Given the description of an element on the screen output the (x, y) to click on. 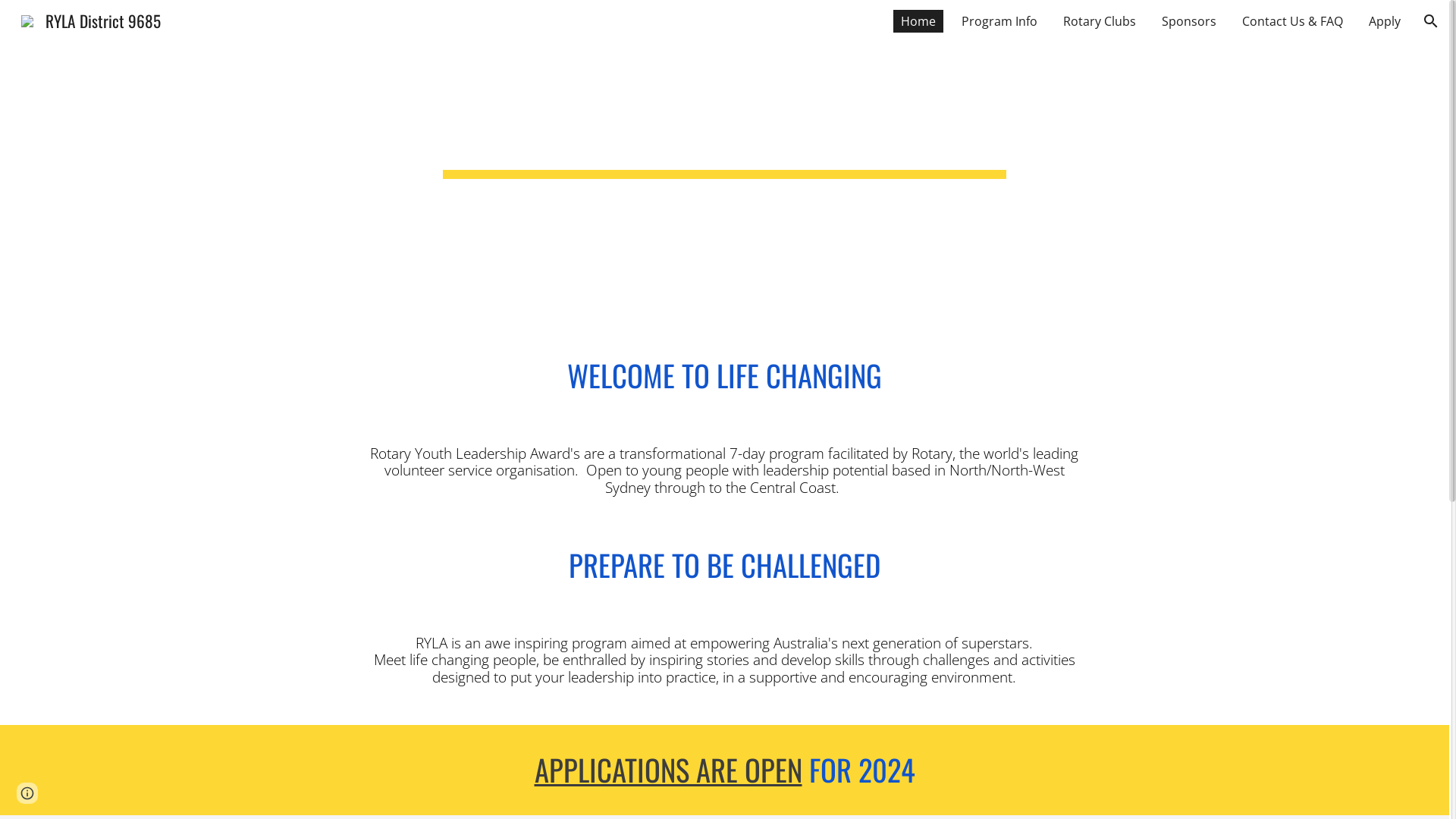
RYLA District 9685 Element type: text (90, 18)
Apply Element type: text (1384, 20)
Program Info Element type: text (998, 20)
Home Element type: text (918, 20)
Rotary Clubs Element type: text (1099, 20)
APPLICATIONS ARE OPEN Element type: text (667, 768)
Sponsors Element type: text (1188, 20)
Contact Us & FAQ Element type: text (1292, 20)
